Given the description of an element on the screen output the (x, y) to click on. 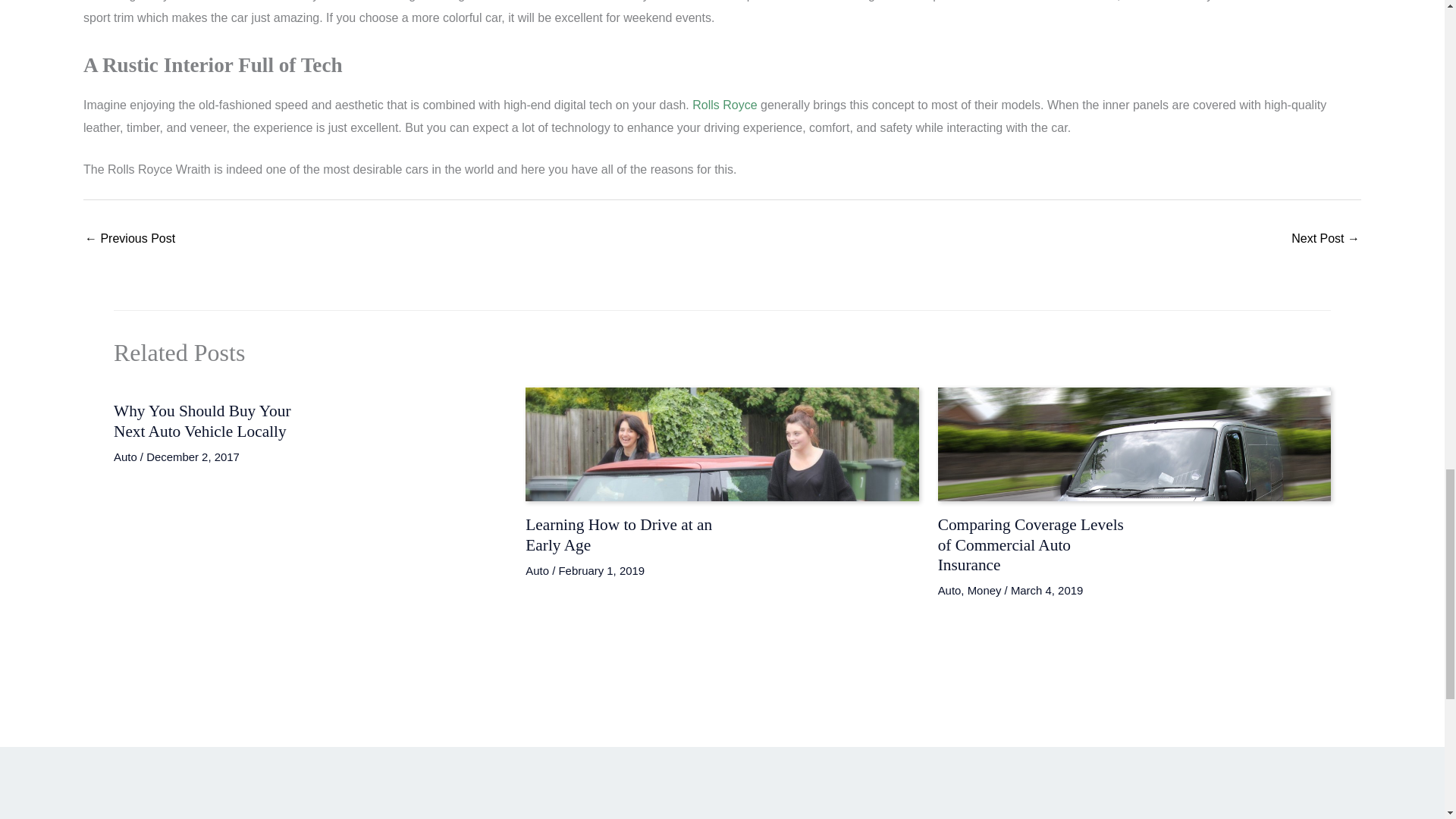
Top Foods To Try In Canada (129, 239)
Why You Should Buy Your Next Auto Vehicle Locally (202, 420)
Auto (536, 570)
Money (984, 590)
Auto (948, 590)
Learning How to Drive at an Early Age (618, 534)
Auto (124, 456)
Rolls Royce (725, 104)
Comparing Coverage Levels of Commercial Auto Insurance (1030, 544)
